Given the description of an element on the screen output the (x, y) to click on. 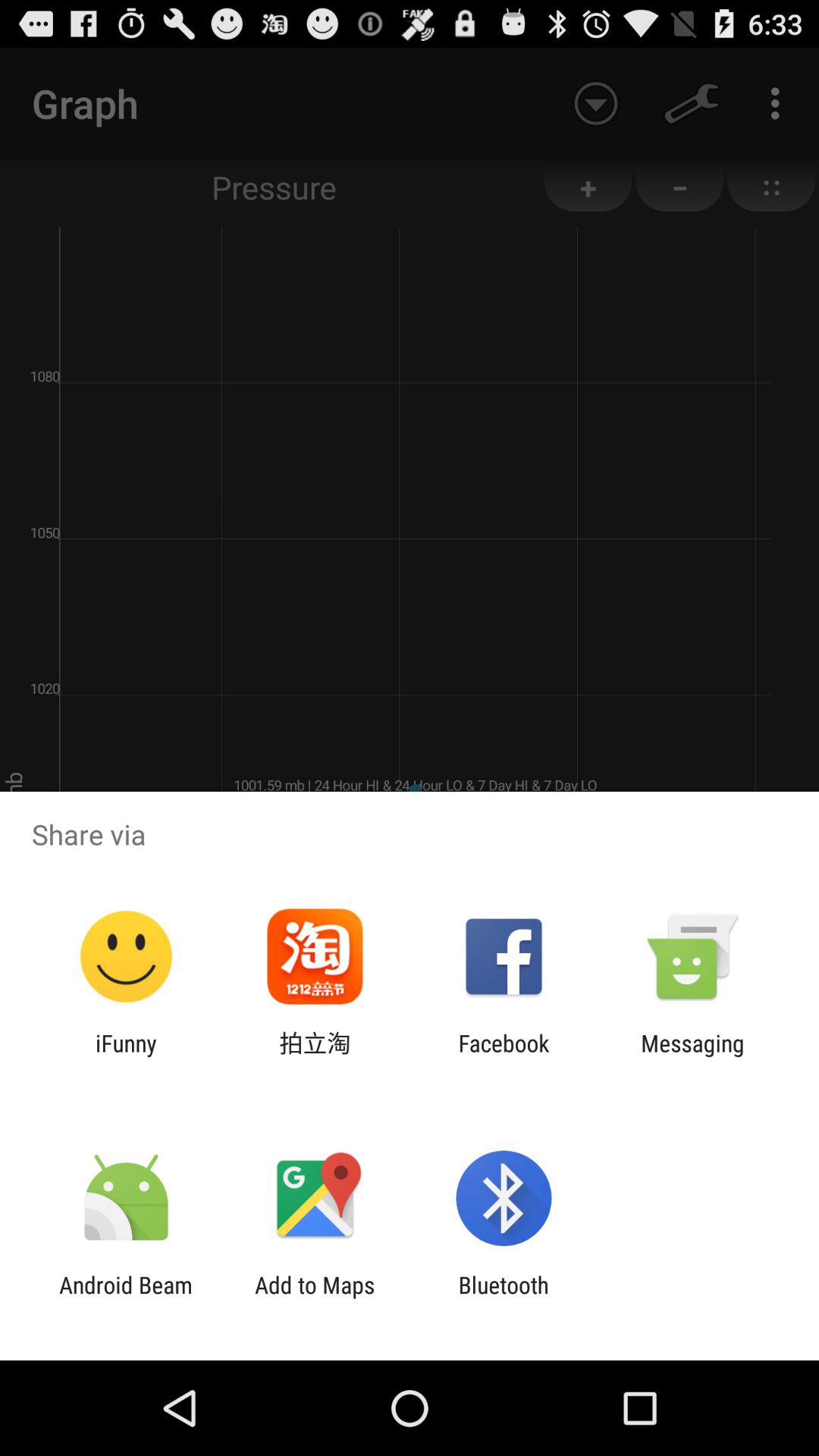
jump to the add to maps app (314, 1298)
